Given the description of an element on the screen output the (x, y) to click on. 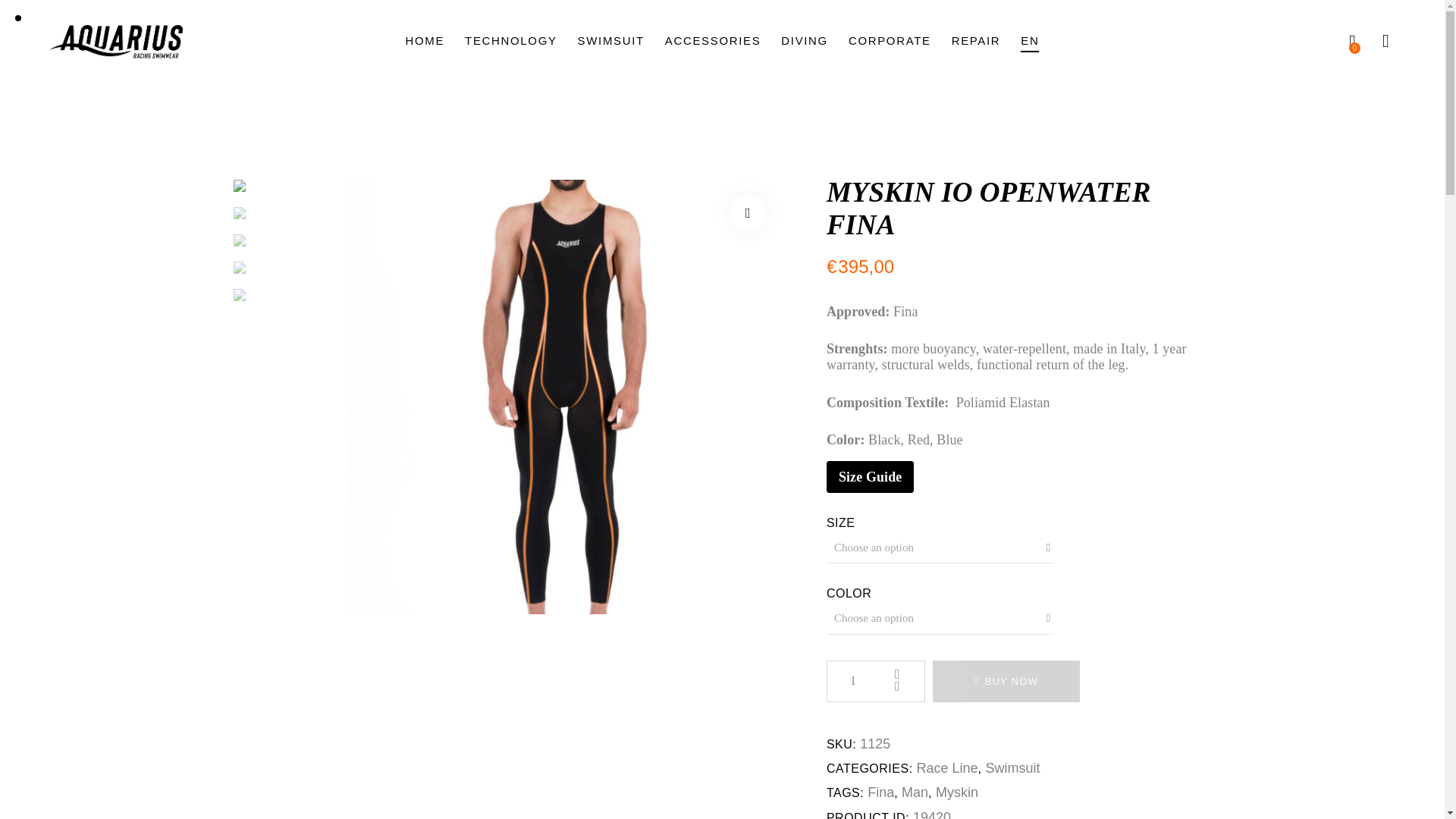
DIVING (804, 41)
1 (875, 680)
ACCESSORIES (712, 41)
TECHNOLOGY (510, 41)
CORPORATE (889, 41)
HOME (424, 41)
REPAIR (975, 41)
SWIMSUIT (610, 41)
EN (1029, 41)
